Given the description of an element on the screen output the (x, y) to click on. 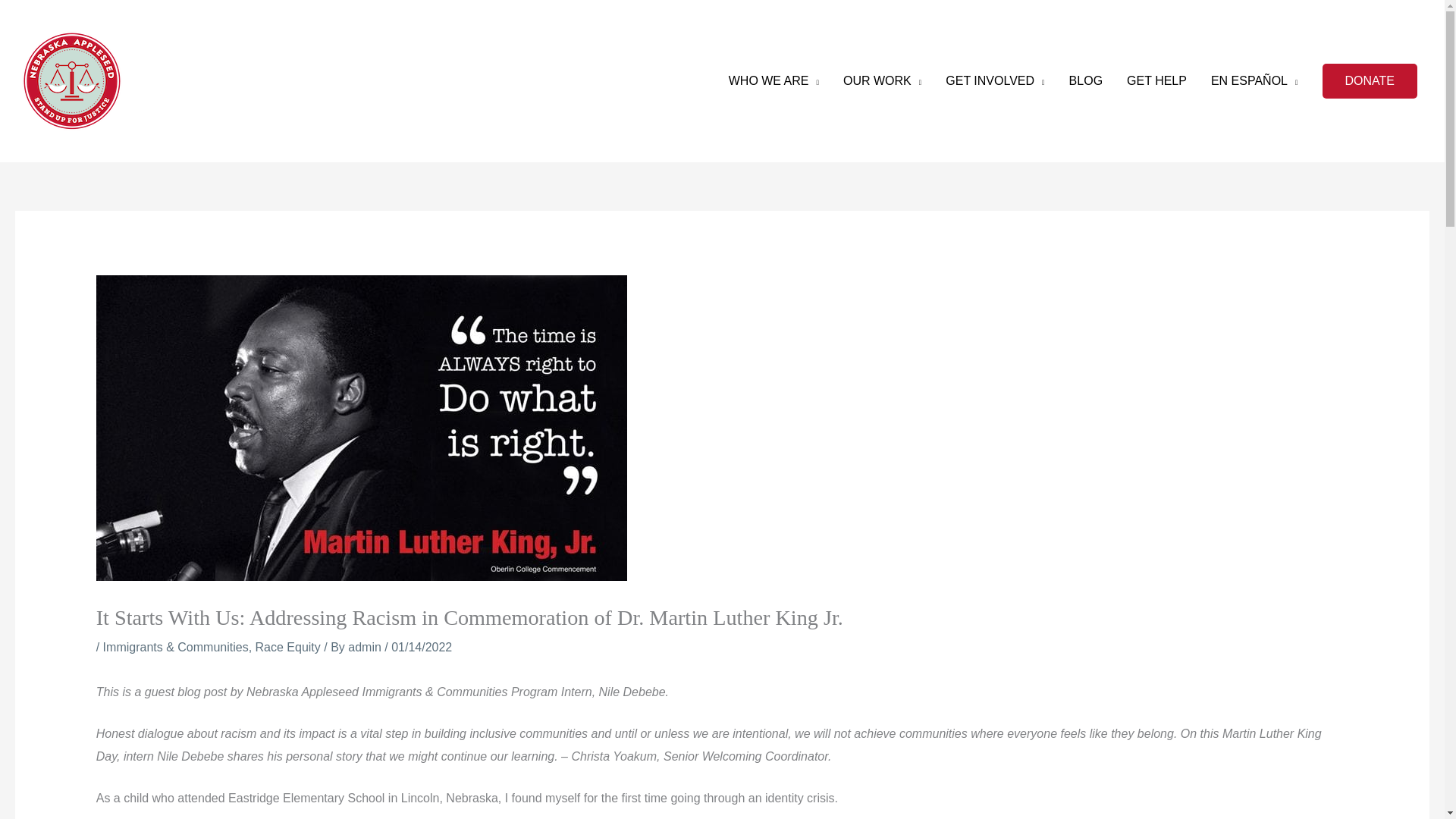
View all posts by admin (365, 646)
OUR WORK (882, 80)
GET HELP (1156, 80)
DONATE (1369, 80)
BLOG (1086, 80)
GET INVOLVED (995, 80)
WHO WE ARE (773, 80)
